Given the description of an element on the screen output the (x, y) to click on. 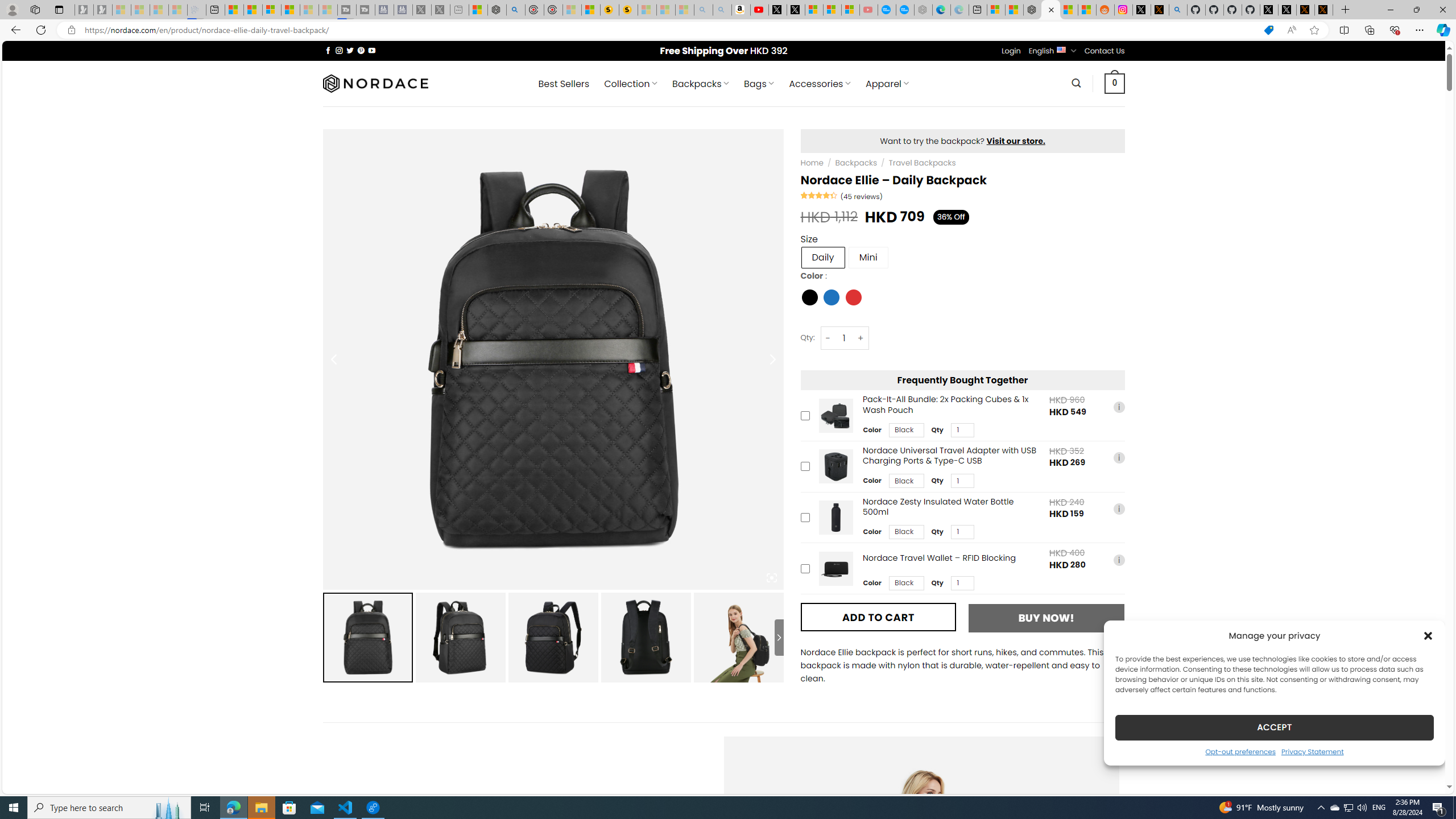
ACCEPT (1274, 727)
 Best Sellers (563, 83)
X Privacy Policy (1324, 9)
Nordace Ellie - Daily Backpack quantity (843, 337)
Profile / X (1268, 9)
Visit our store. (1015, 140)
